Given the description of an element on the screen output the (x, y) to click on. 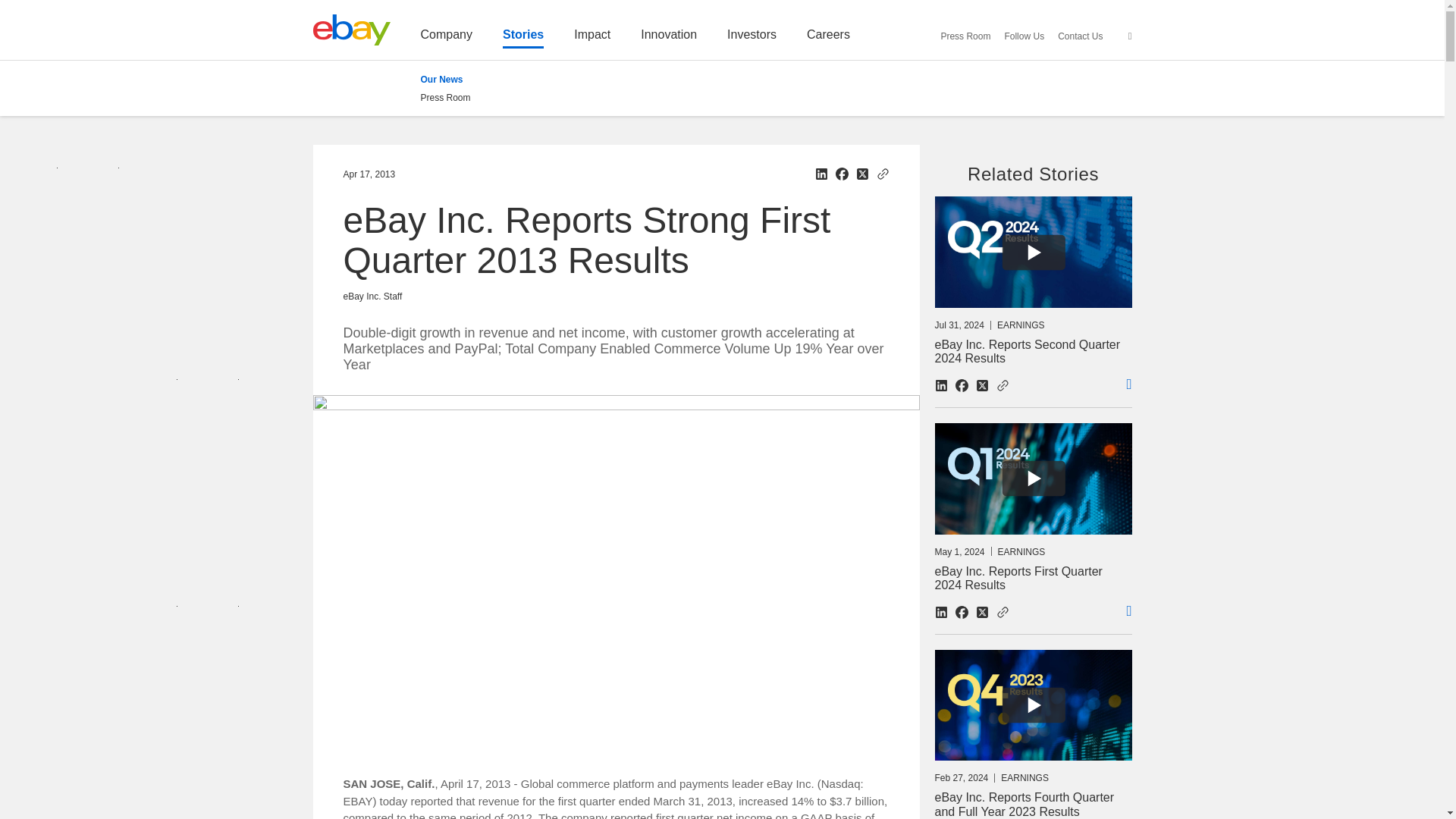
Stories (522, 38)
Innovation (668, 38)
Company (445, 38)
Share on Facebook (841, 173)
Share on LinkedIn (820, 173)
Impact (591, 38)
eBay Inc. Home Page (351, 29)
Investors (751, 38)
Copy link to clipboard (882, 173)
